Given the description of an element on the screen output the (x, y) to click on. 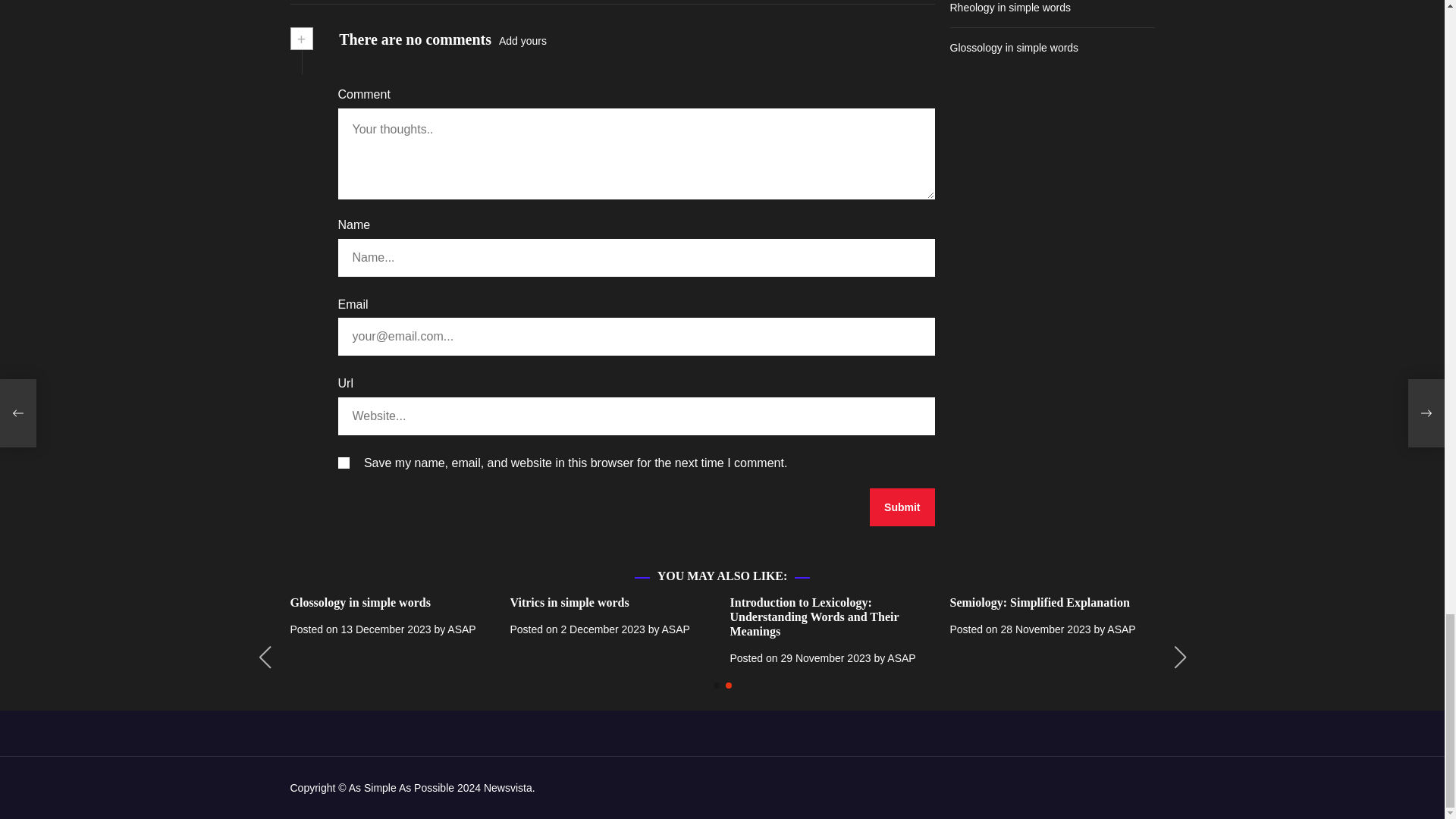
Submit (901, 507)
yes (343, 462)
